Given the description of an element on the screen output the (x, y) to click on. 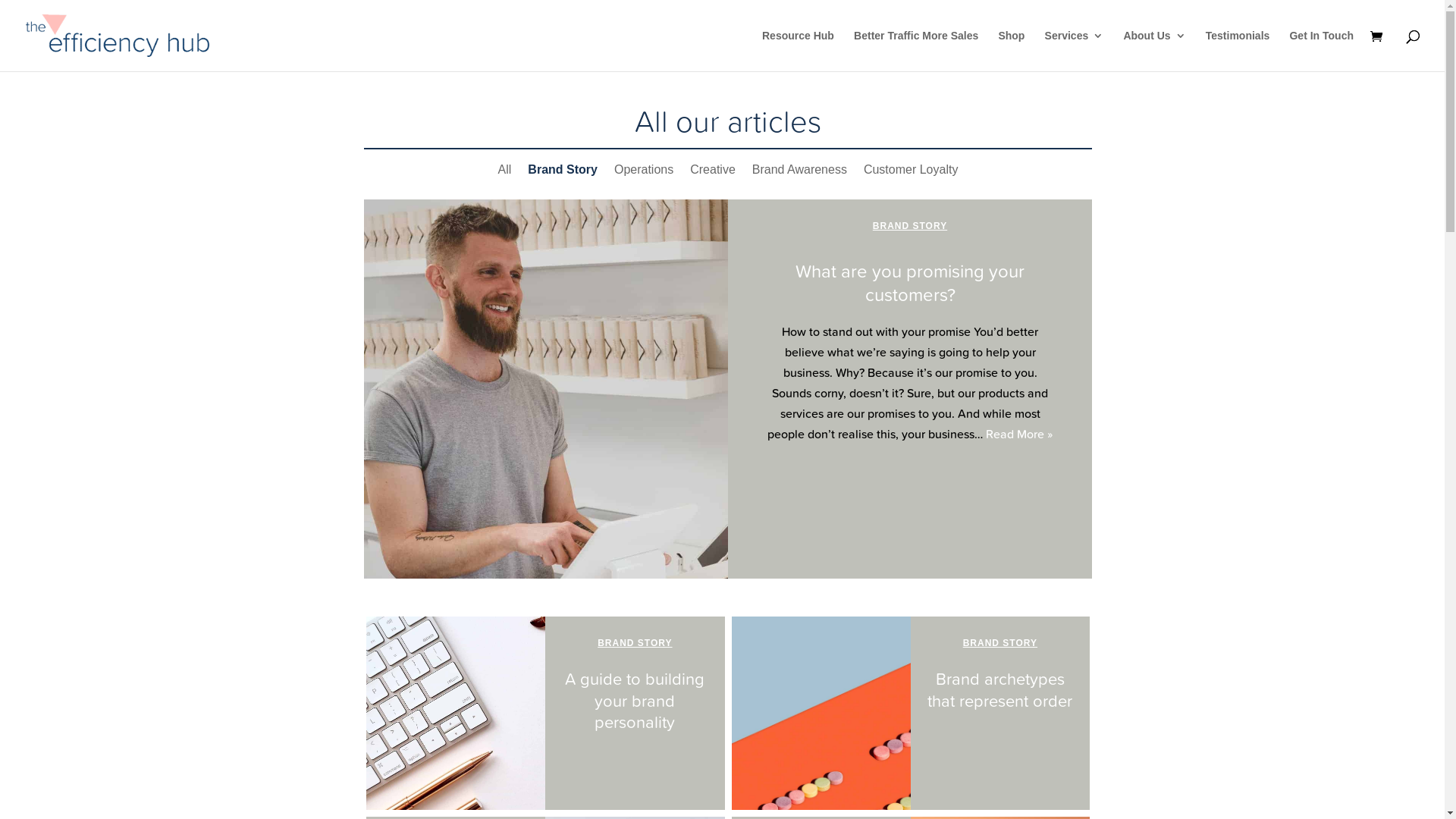
Operations Element type: text (643, 172)
Brand Awareness Element type: text (799, 172)
Creative Element type: text (712, 172)
Shop Element type: text (1010, 50)
A guide to building your brand personality Element type: text (634, 700)
Testimonials Element type: text (1237, 50)
Brand Story Element type: text (562, 172)
What are you promising your customers? Element type: text (909, 282)
BRAND STORY Element type: text (634, 642)
Services Element type: text (1074, 50)
Brand archetypes that represent order Element type: text (999, 689)
Better Traffic More Sales Element type: text (915, 50)
Customer Loyalty Element type: text (910, 172)
Resource Hub Element type: text (798, 50)
Get In Touch Element type: text (1321, 50)
BRAND STORY Element type: text (1000, 642)
BRAND STORY Element type: text (909, 225)
About Us Element type: text (1154, 50)
All Element type: text (504, 172)
